Given the description of an element on the screen output the (x, y) to click on. 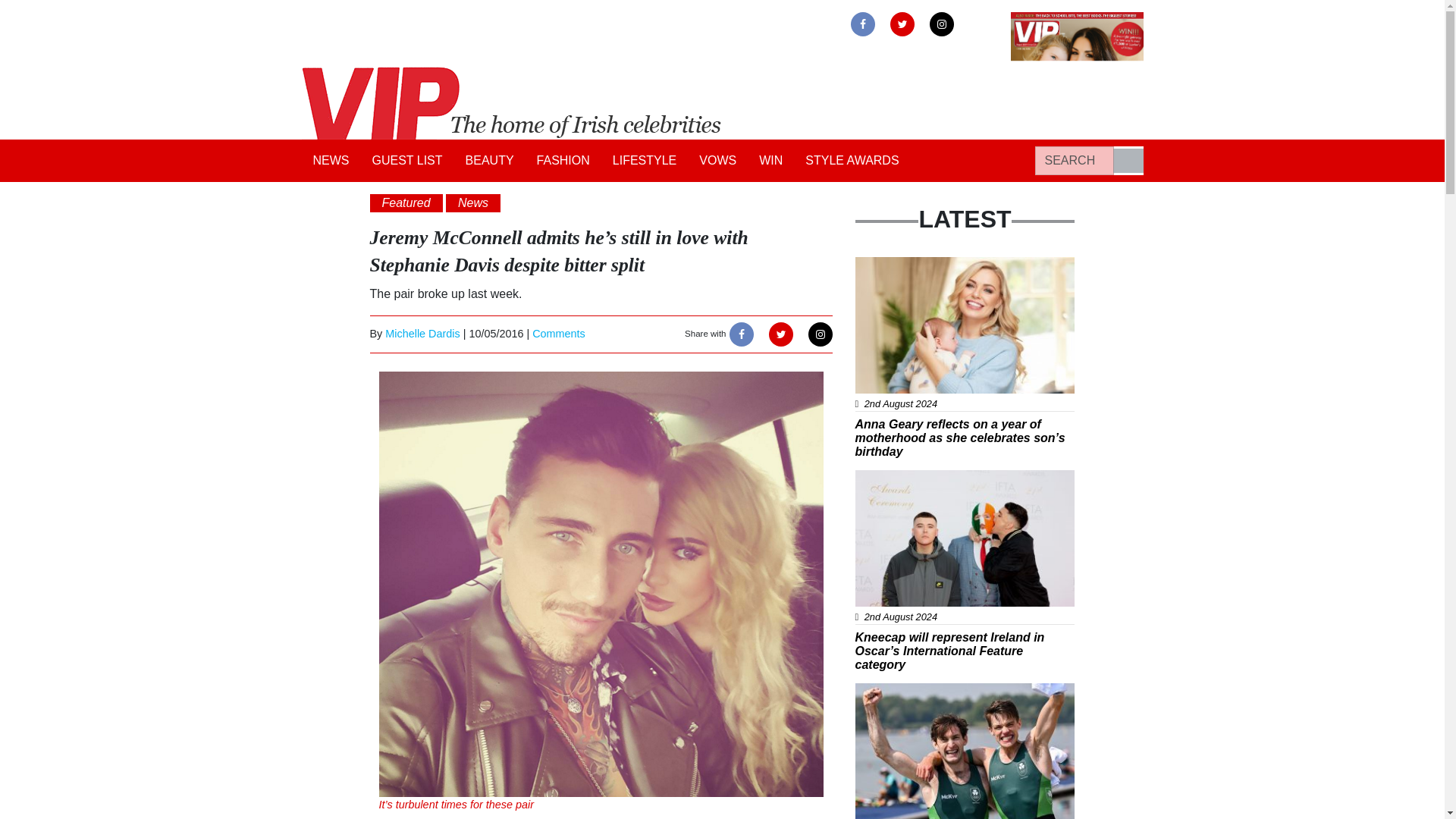
Michelle Dardis (422, 333)
Comments (558, 333)
BEAUTY (489, 160)
STYLE AWARDS (851, 160)
WIN (770, 160)
Featured (405, 203)
FASHION (563, 160)
News (472, 203)
GUEST LIST (407, 160)
News (881, 265)
